Given the description of an element on the screen output the (x, y) to click on. 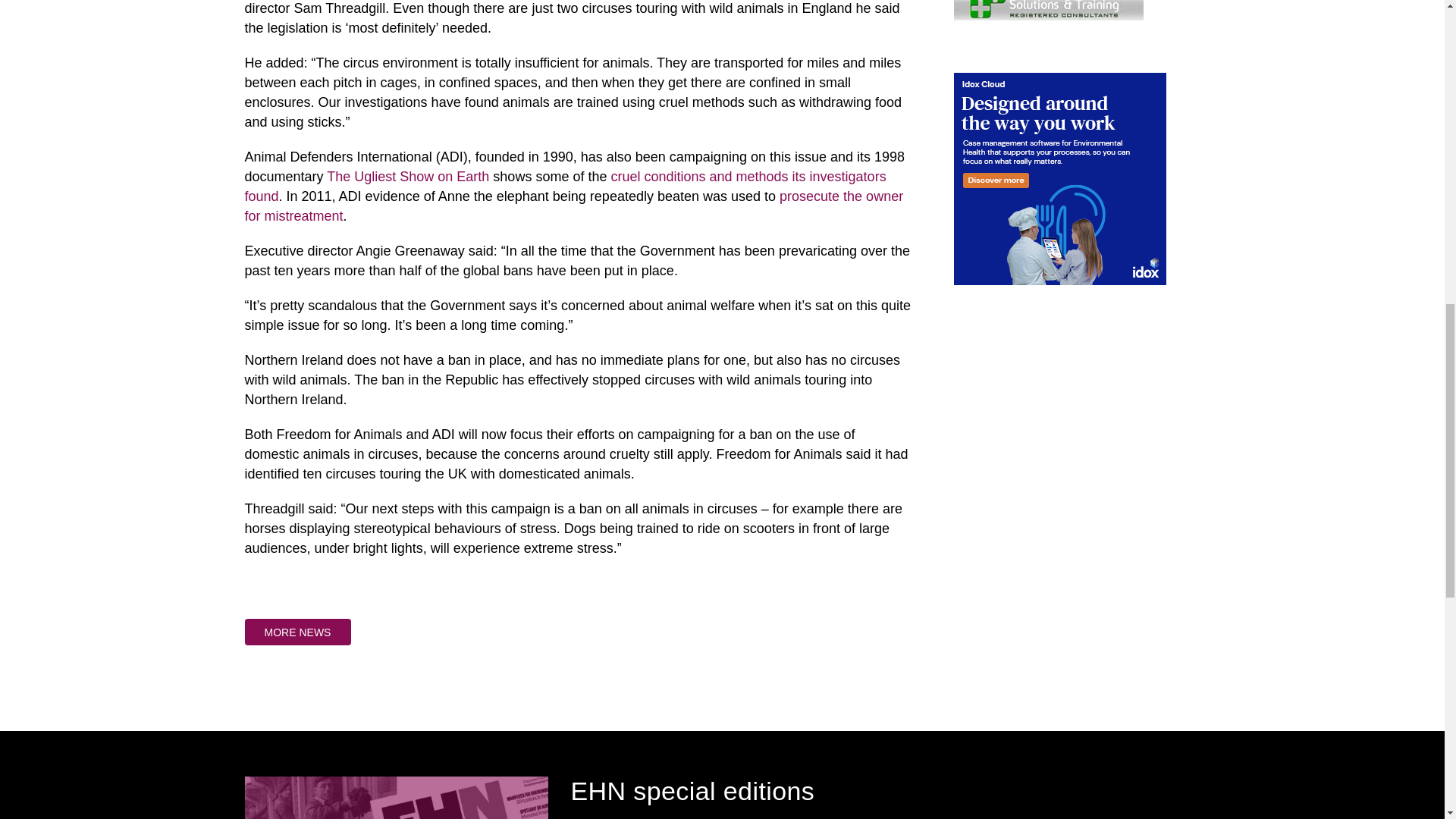
Anne the elephant circus abuse: Bobby Roberts guilty (573, 206)
Ugliest Show on Earth (407, 176)
ADI video (564, 185)
Idox website (1059, 177)
